Given the description of an element on the screen output the (x, y) to click on. 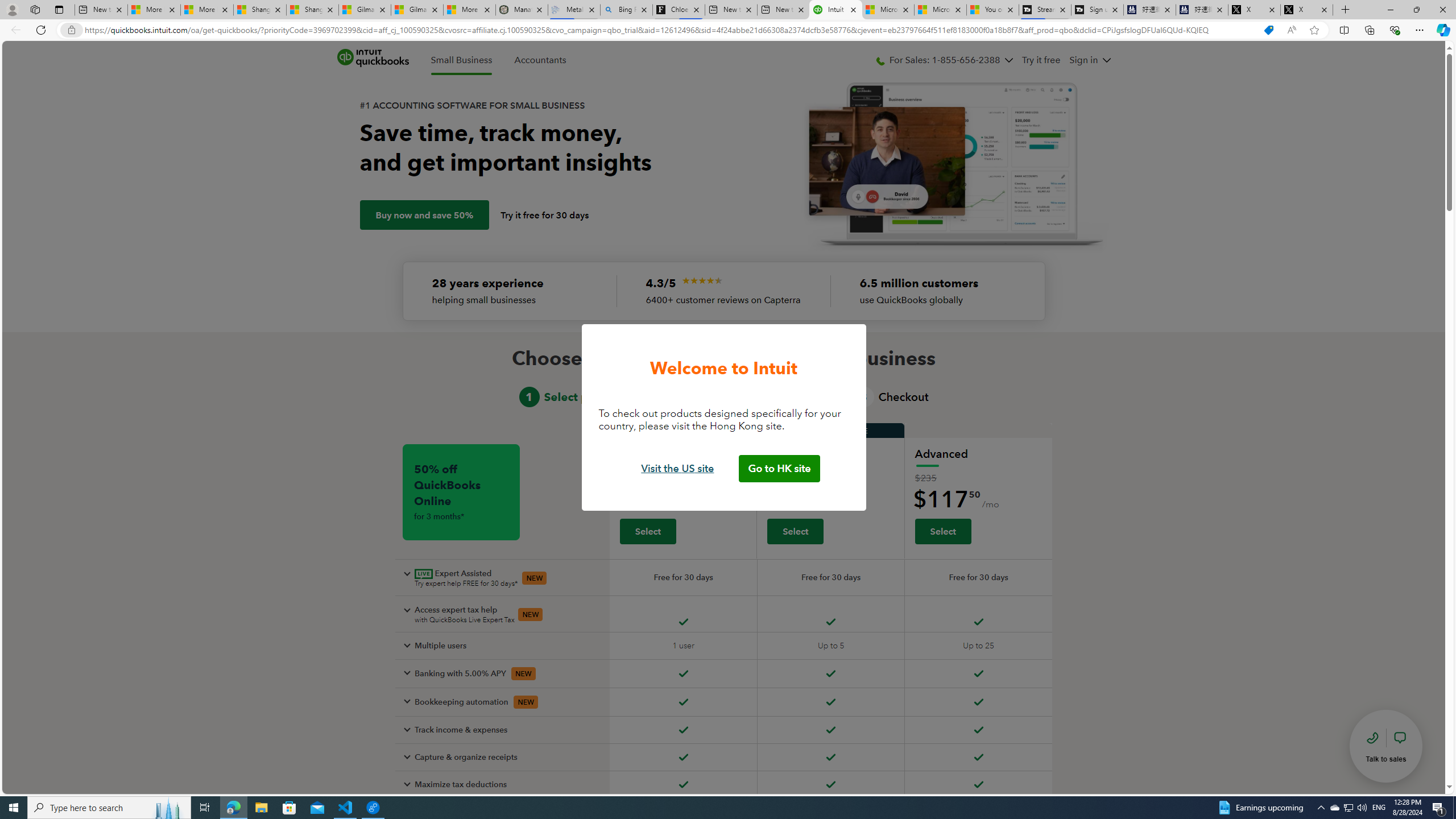
Sign in (1082, 60)
Sign in (1089, 60)
